Given the description of an element on the screen output the (x, y) to click on. 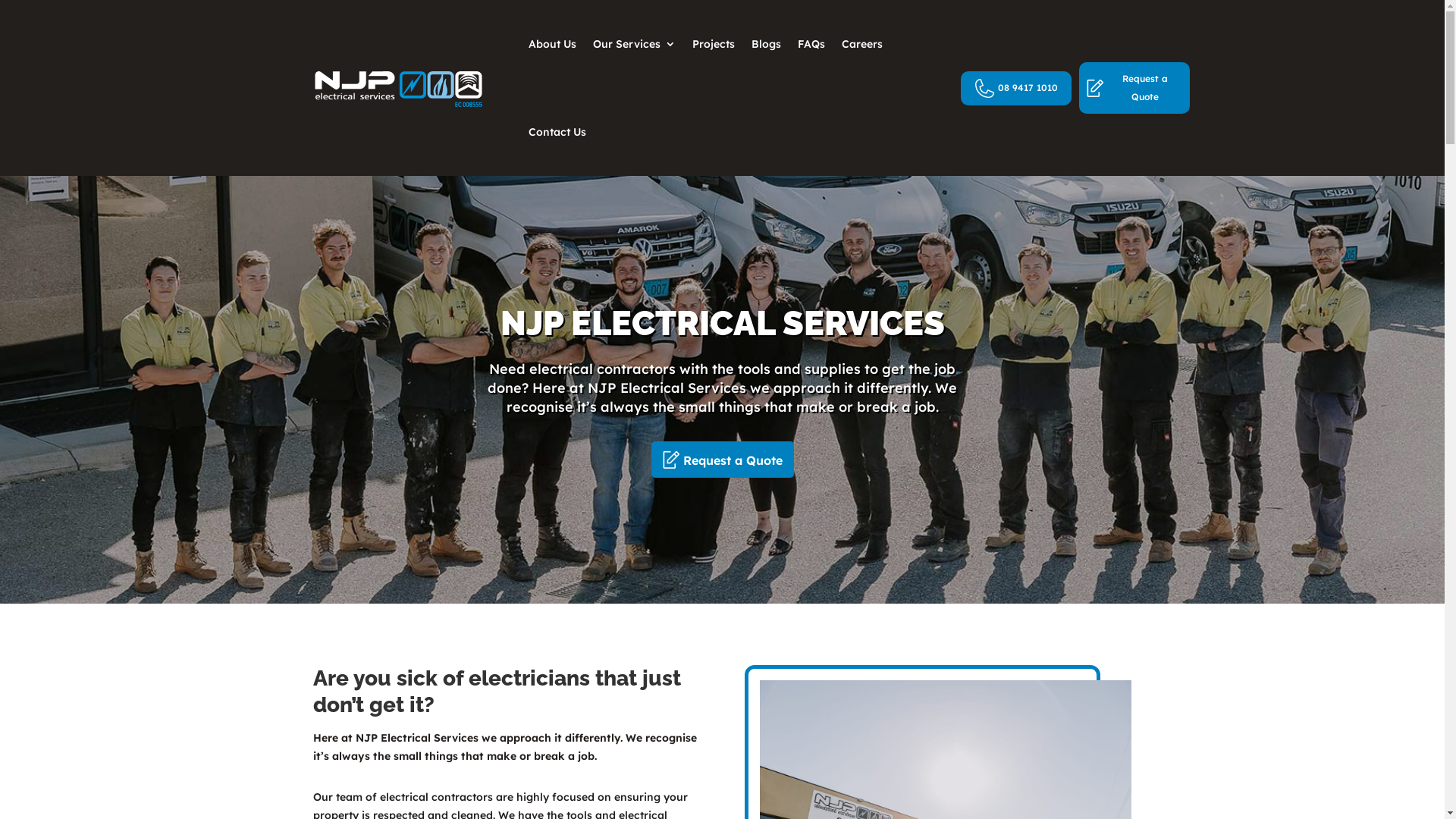
FAQs Element type: text (811, 43)
Our Services Element type: text (634, 43)
Contact Us Element type: text (557, 131)
Careers Element type: text (861, 43)
About Us Element type: text (552, 43)
Blogs Element type: text (766, 43)
Request a Quote Element type: text (721, 459)
Projects Element type: text (713, 43)
08 9417 1010 Element type: text (1015, 88)
njpelectrical-logo Element type: hover (397, 87)
Request a Quote Element type: text (1134, 87)
